Given the description of an element on the screen output the (x, y) to click on. 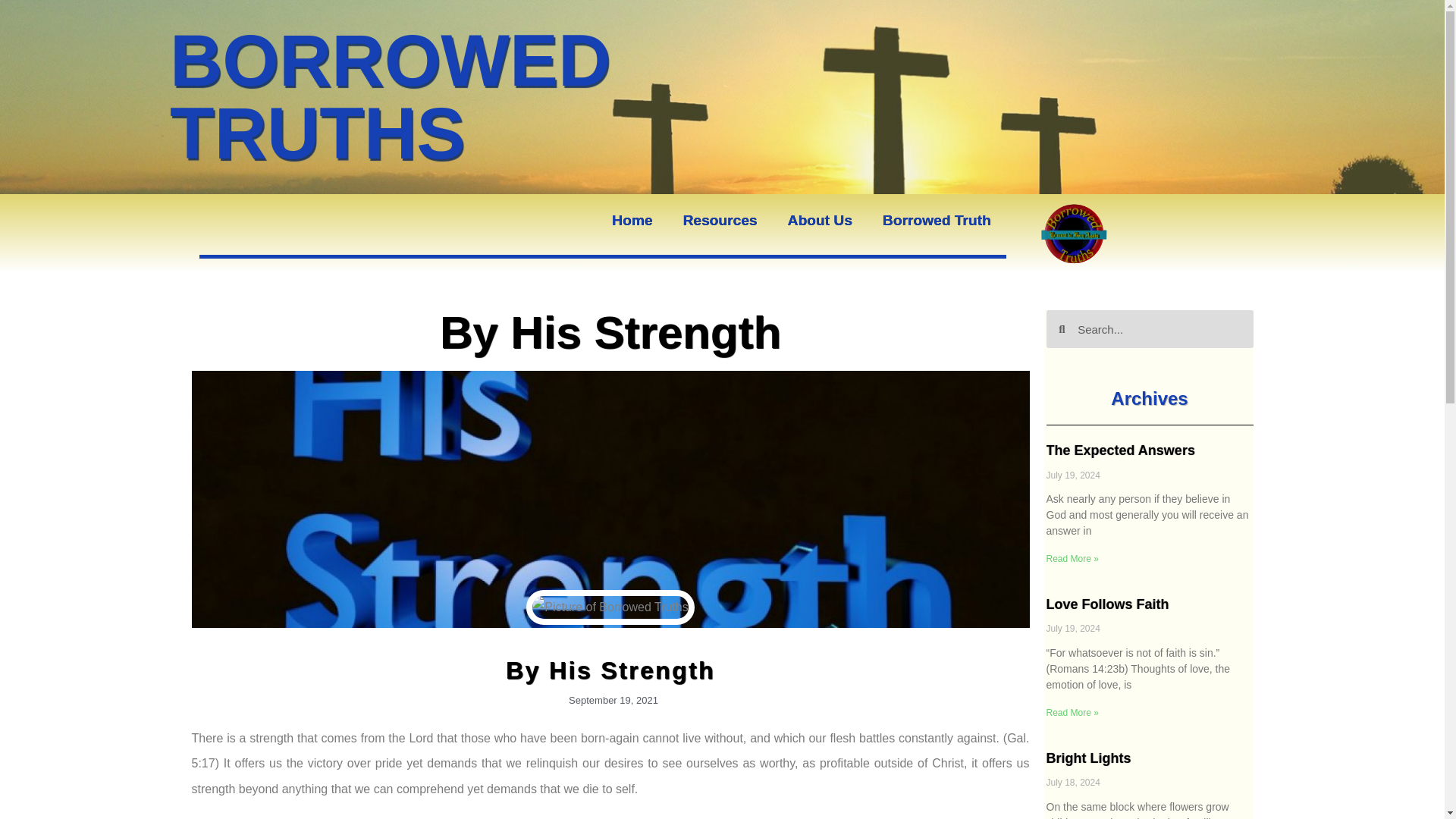
Love Follows Faith (1107, 604)
Resources (718, 220)
Borrowed Truth (936, 220)
Home (631, 220)
The Expected Answers (1120, 450)
September 19, 2021 (610, 700)
Bright Lights (1088, 758)
image 3 (1076, 233)
About Us (820, 220)
